Given the description of an element on the screen output the (x, y) to click on. 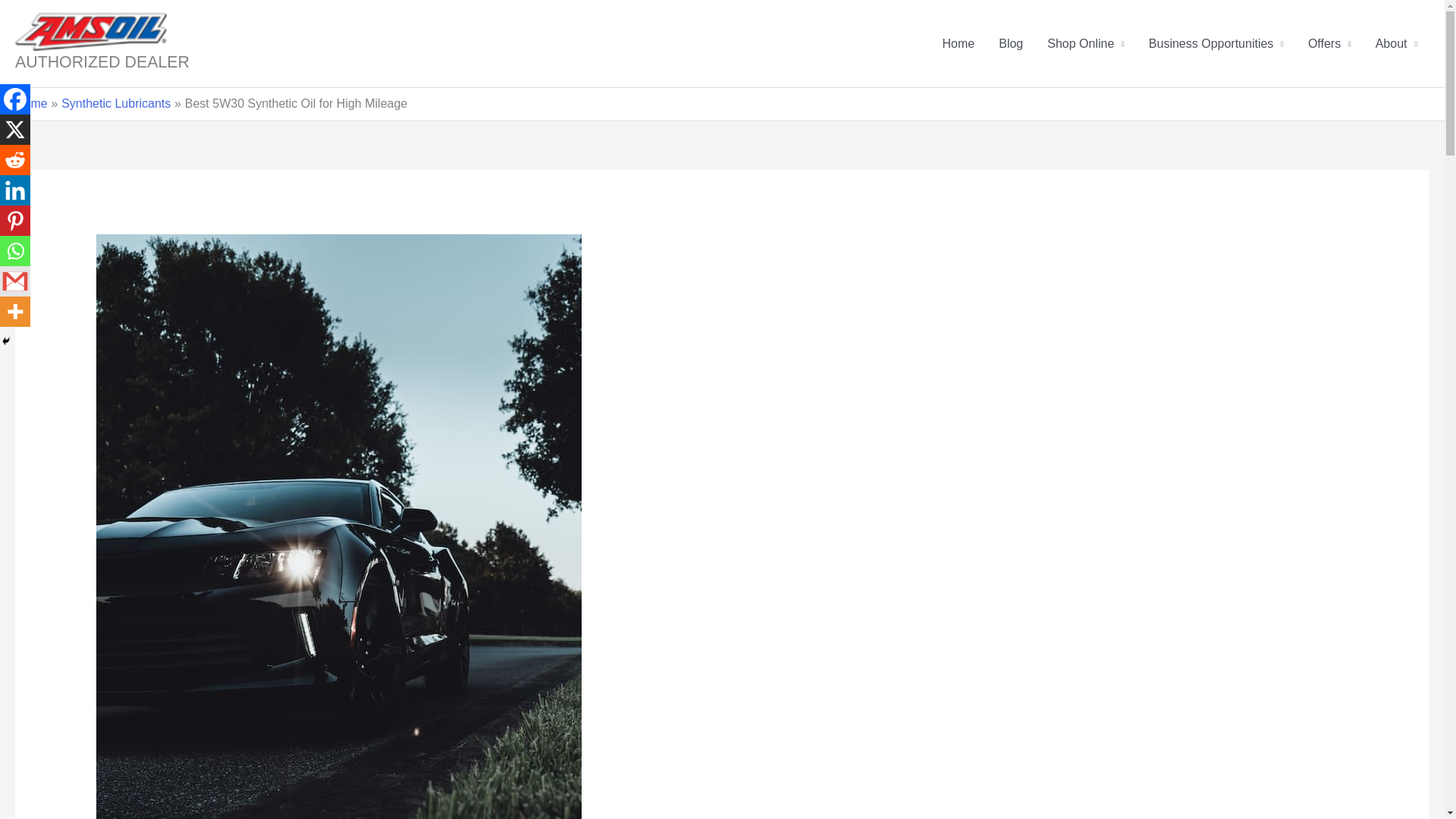
Facebook (15, 99)
Synthetic Lubricants (115, 103)
Reddit (15, 159)
Business Opportunities (1216, 43)
Home (31, 103)
Shop Online (1086, 43)
X (15, 129)
Linkedin (15, 190)
